Given the description of an element on the screen output the (x, y) to click on. 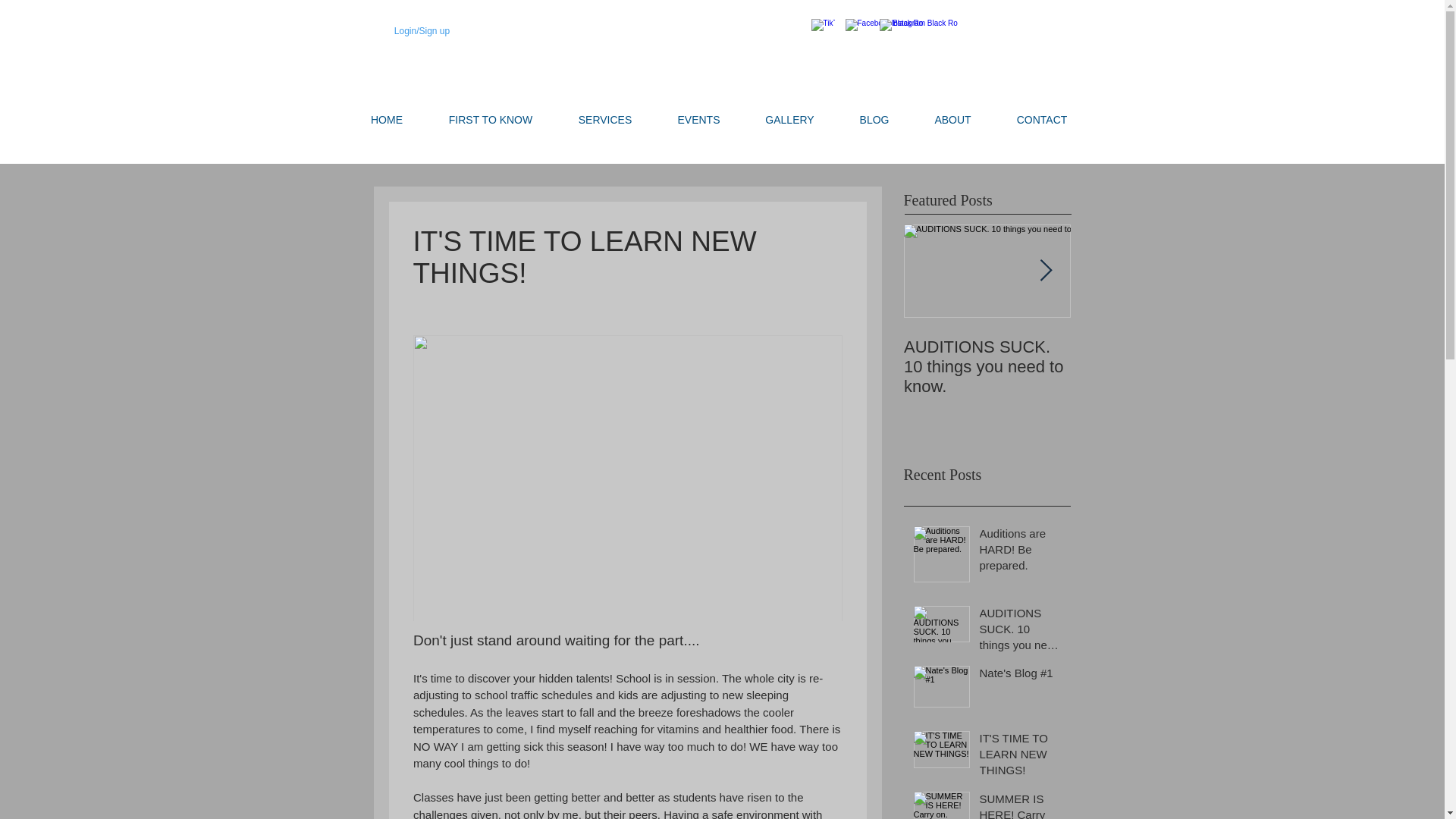
BLOG (874, 120)
CONTACT (1040, 120)
Auditions are HARD! Be prepared. (1020, 552)
AUDITIONS SUCK. 10 things you need to know. (987, 366)
FIRST TO KNOW (491, 120)
HOME (386, 120)
IT'S TIME TO LEARN NEW THINGS! (1020, 756)
SUMMER IS HERE! Carry on. (1020, 805)
AUDITIONS SUCK. 10 things you need to know. (1020, 632)
